Given the description of an element on the screen output the (x, y) to click on. 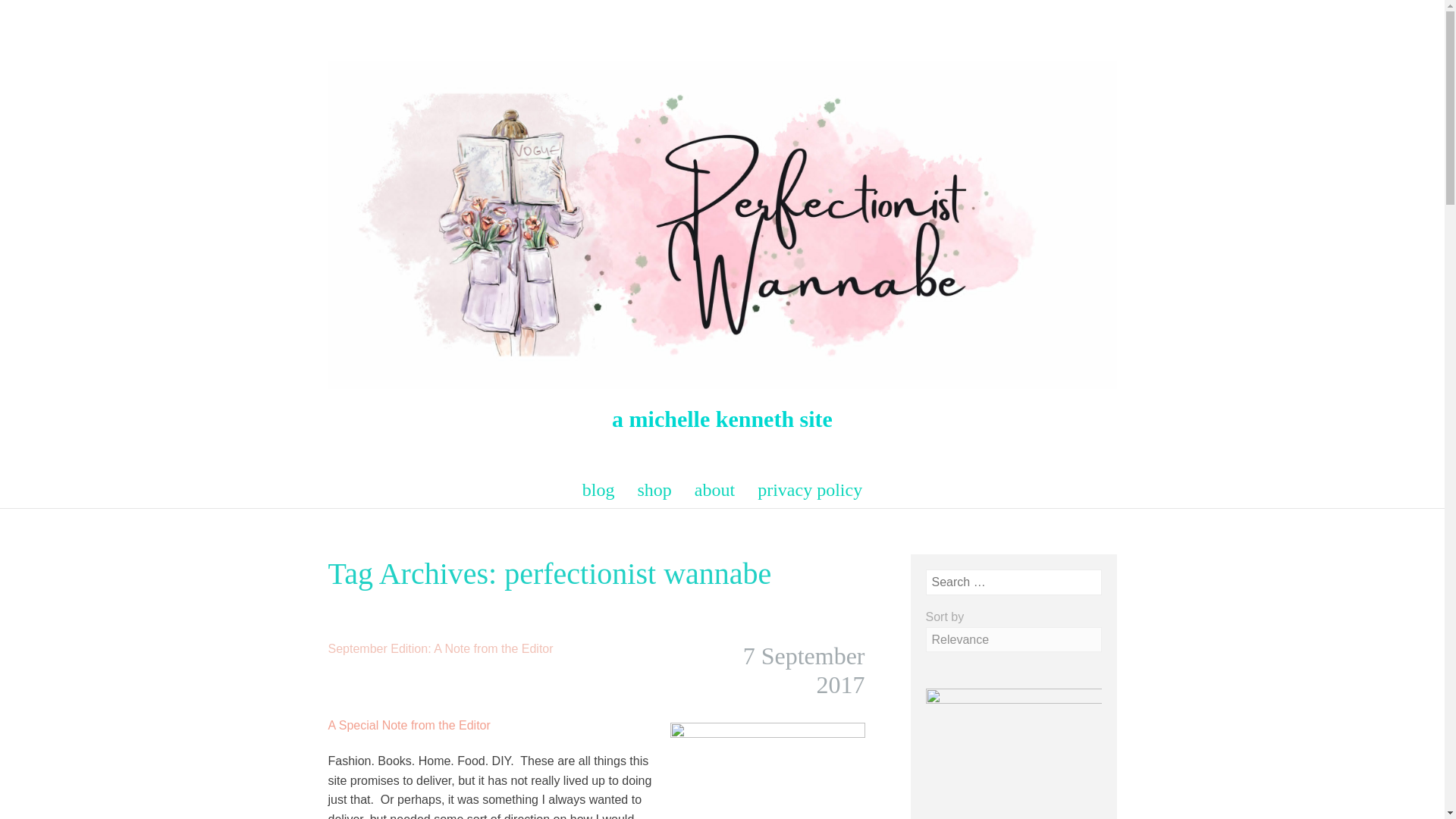
skip to content (313, 479)
shop (654, 489)
September Edition: A Note from the Editor (440, 648)
privacy policy (809, 489)
Search (29, 14)
7 September 2017 (803, 670)
about (714, 489)
blog (598, 489)
